Given the description of an element on the screen output the (x, y) to click on. 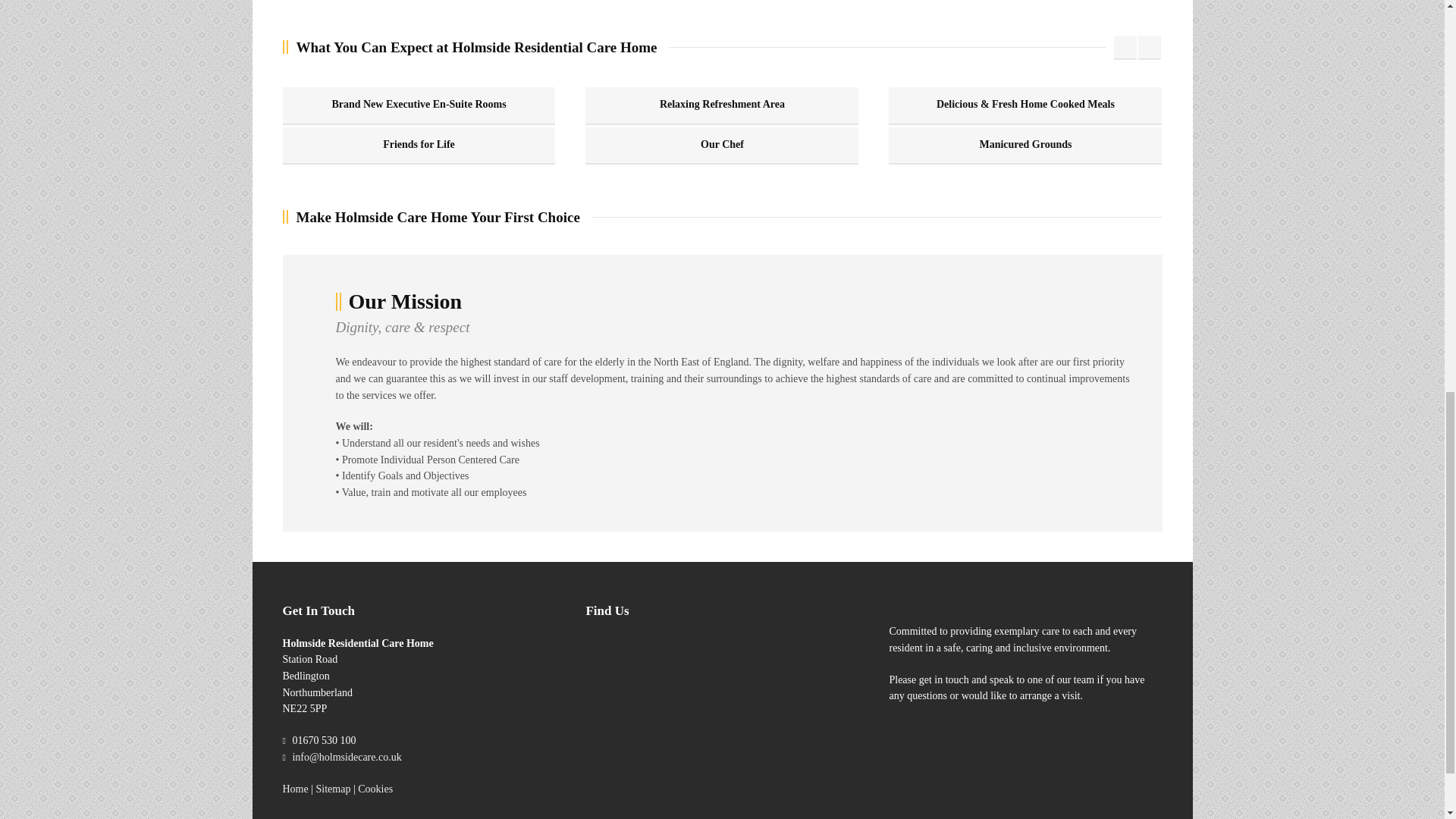
Cookies (375, 788)
Home (294, 788)
Sitemap (332, 788)
